Given the description of an element on the screen output the (x, y) to click on. 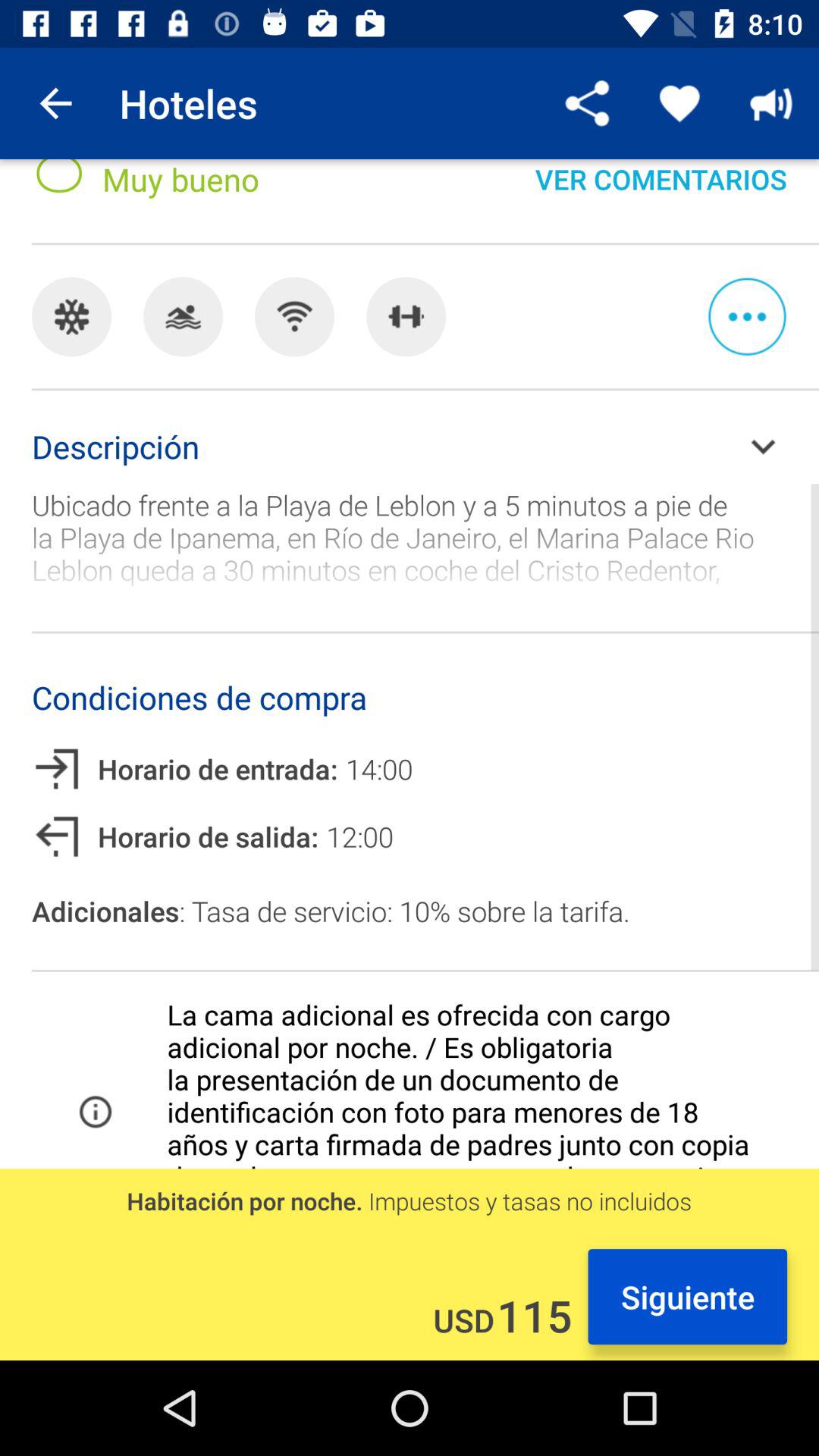
swipe to the ver comentarios item (661, 192)
